Given the description of an element on the screen output the (x, y) to click on. 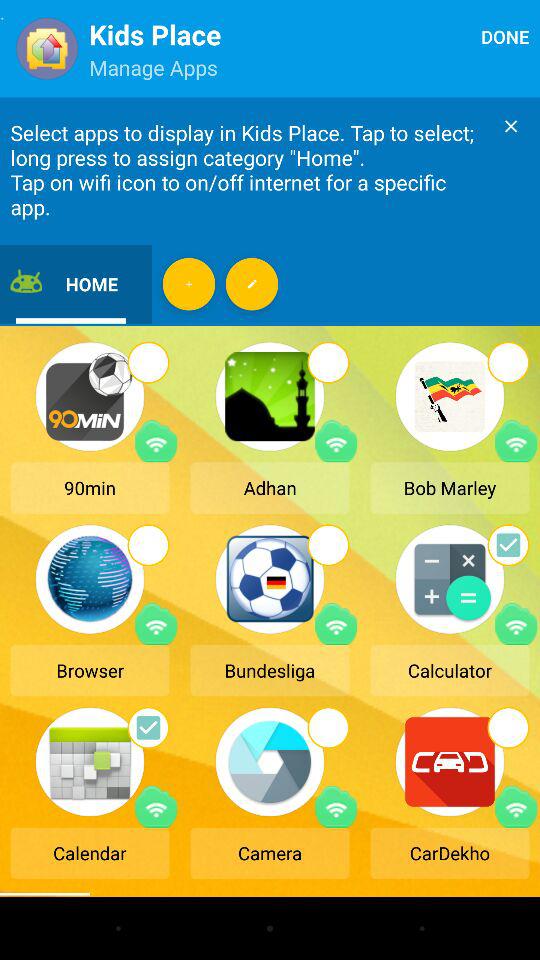
close the tab (511, 126)
